Given the description of an element on the screen output the (x, y) to click on. 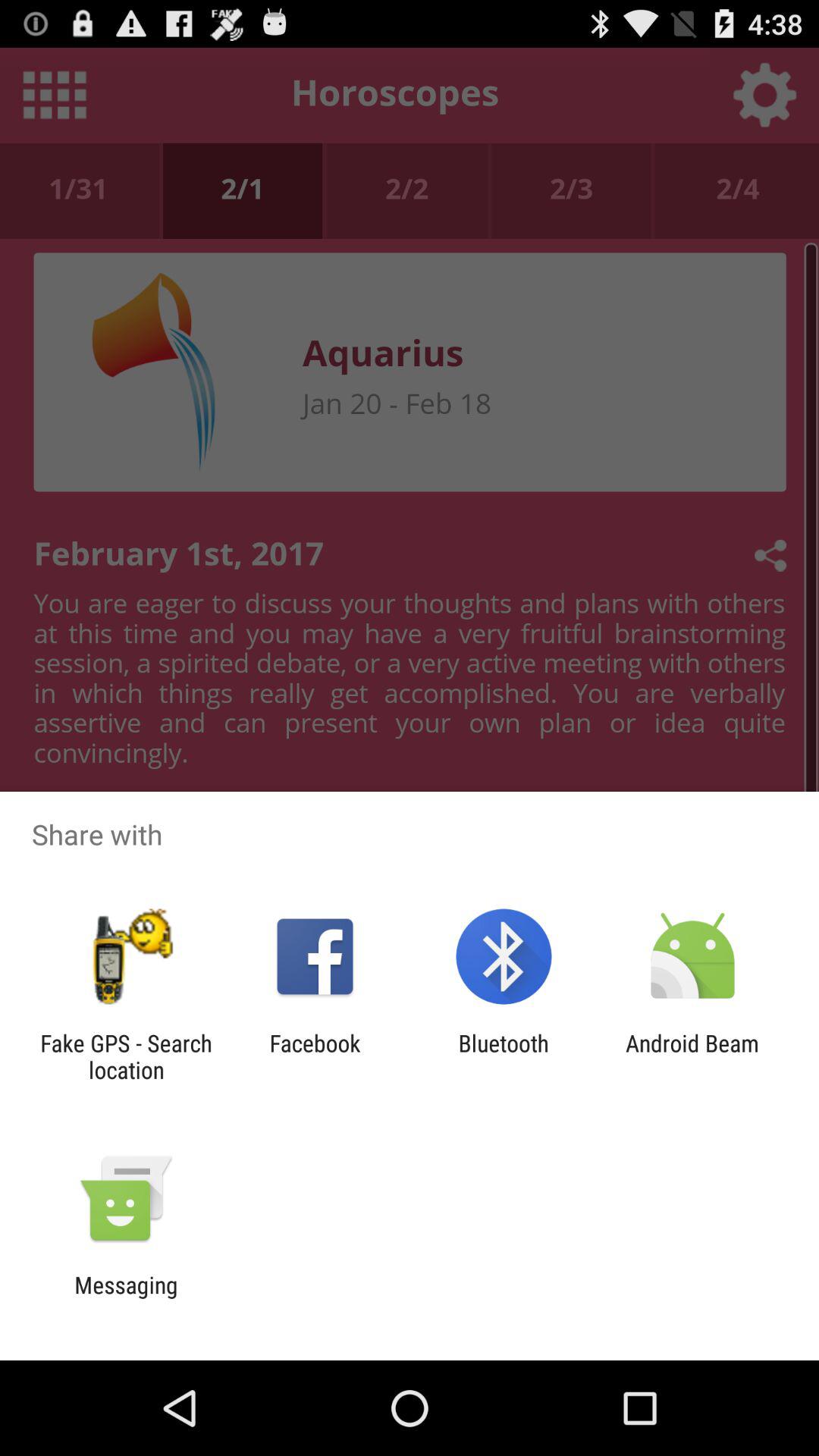
open the app to the right of facebook icon (503, 1056)
